Given the description of an element on the screen output the (x, y) to click on. 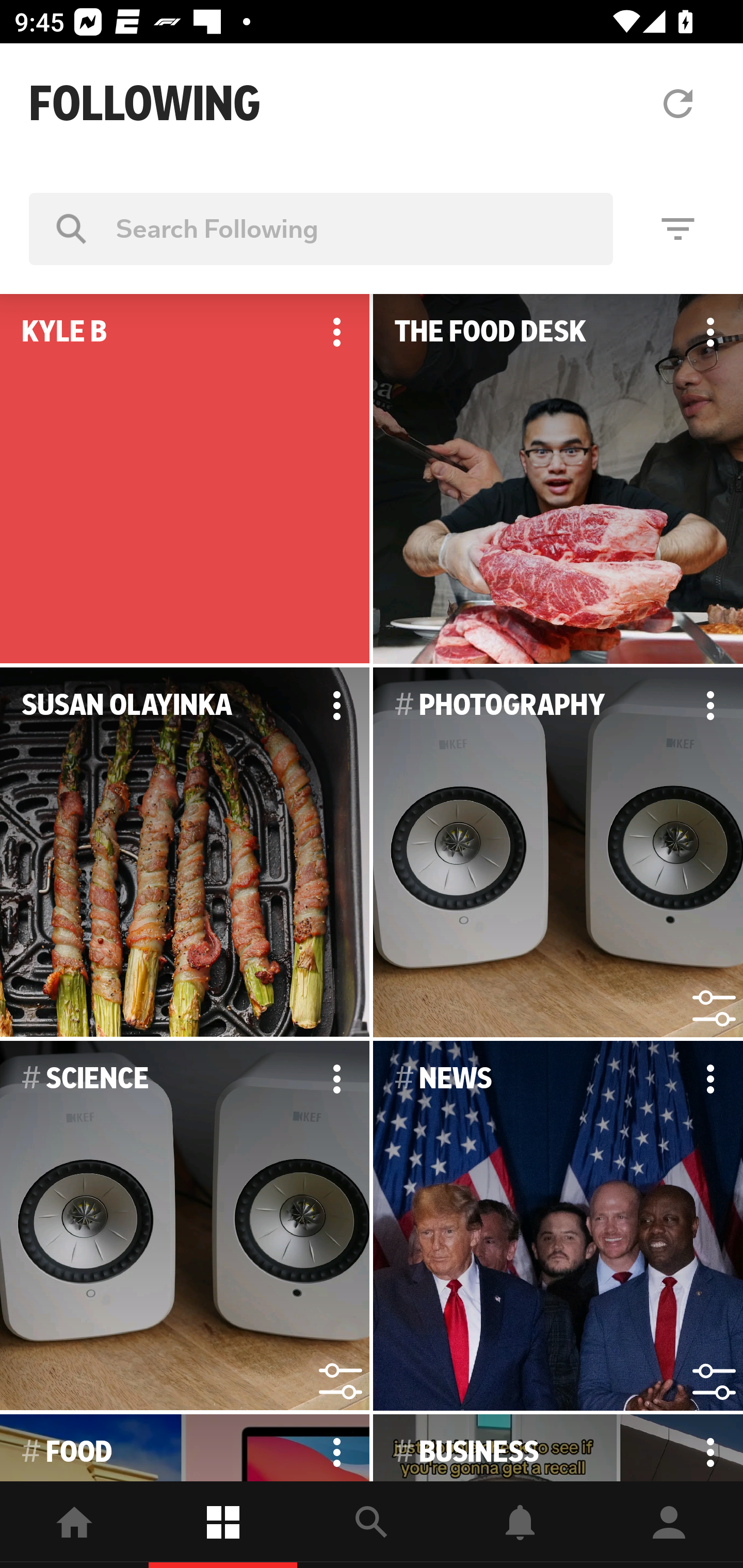
Search Following (320, 228)
KYLE B Options (184, 478)
Options (336, 332)
THE FOOD DESK Options (557, 478)
Options (710, 332)
SUSAN OLAYINKA Options (184, 852)
Options (336, 705)
# PHOTOGRAPHY Options (557, 852)
Options (710, 705)
# SCIENCE Options (184, 1226)
Options (336, 1078)
# NEWS Options (557, 1226)
Options (710, 1078)
Options (336, 1447)
Options (710, 1447)
home (74, 1524)
Following (222, 1524)
explore (371, 1524)
Notifications (519, 1524)
Profile (668, 1524)
